Given the description of an element on the screen output the (x, y) to click on. 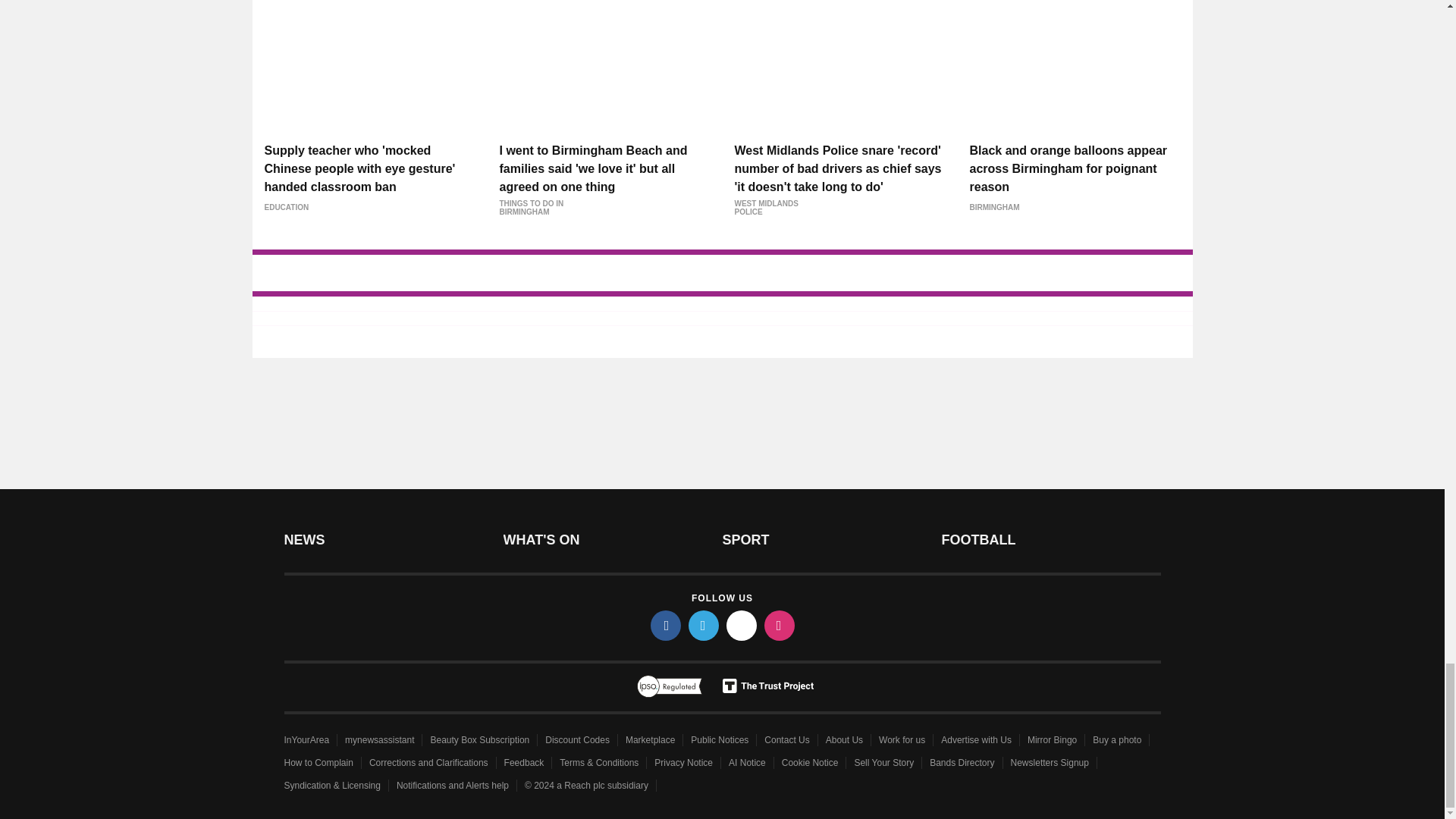
instagram (779, 625)
tiktok (741, 625)
facebook (665, 625)
twitter (703, 625)
